Given the description of an element on the screen output the (x, y) to click on. 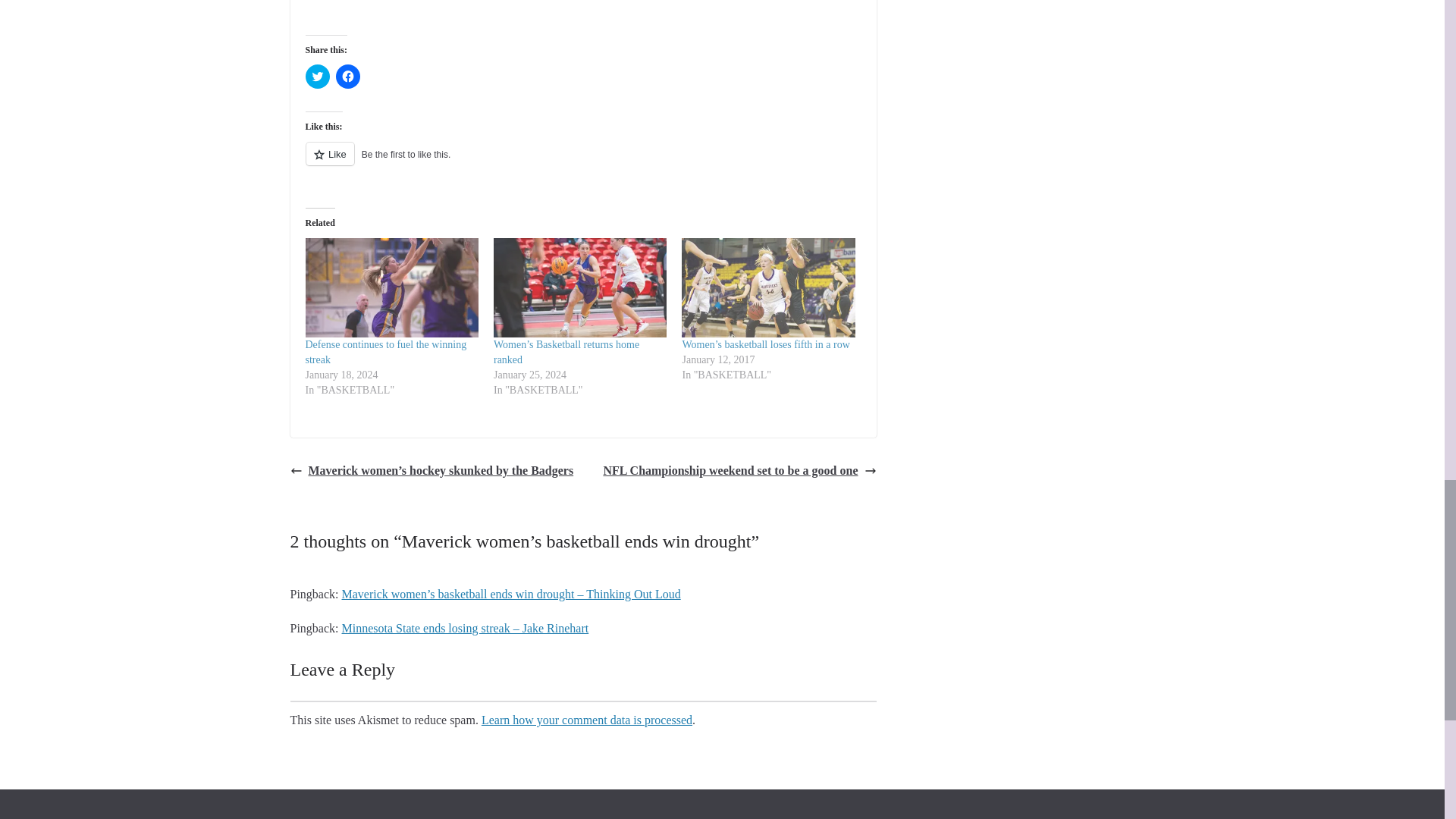
Click to share on Facebook (346, 76)
Defense continues to fuel the winning streak (390, 287)
Click to share on Twitter (316, 76)
Defense continues to fuel the winning streak (384, 352)
Like or Reblog (582, 162)
